Given the description of an element on the screen output the (x, y) to click on. 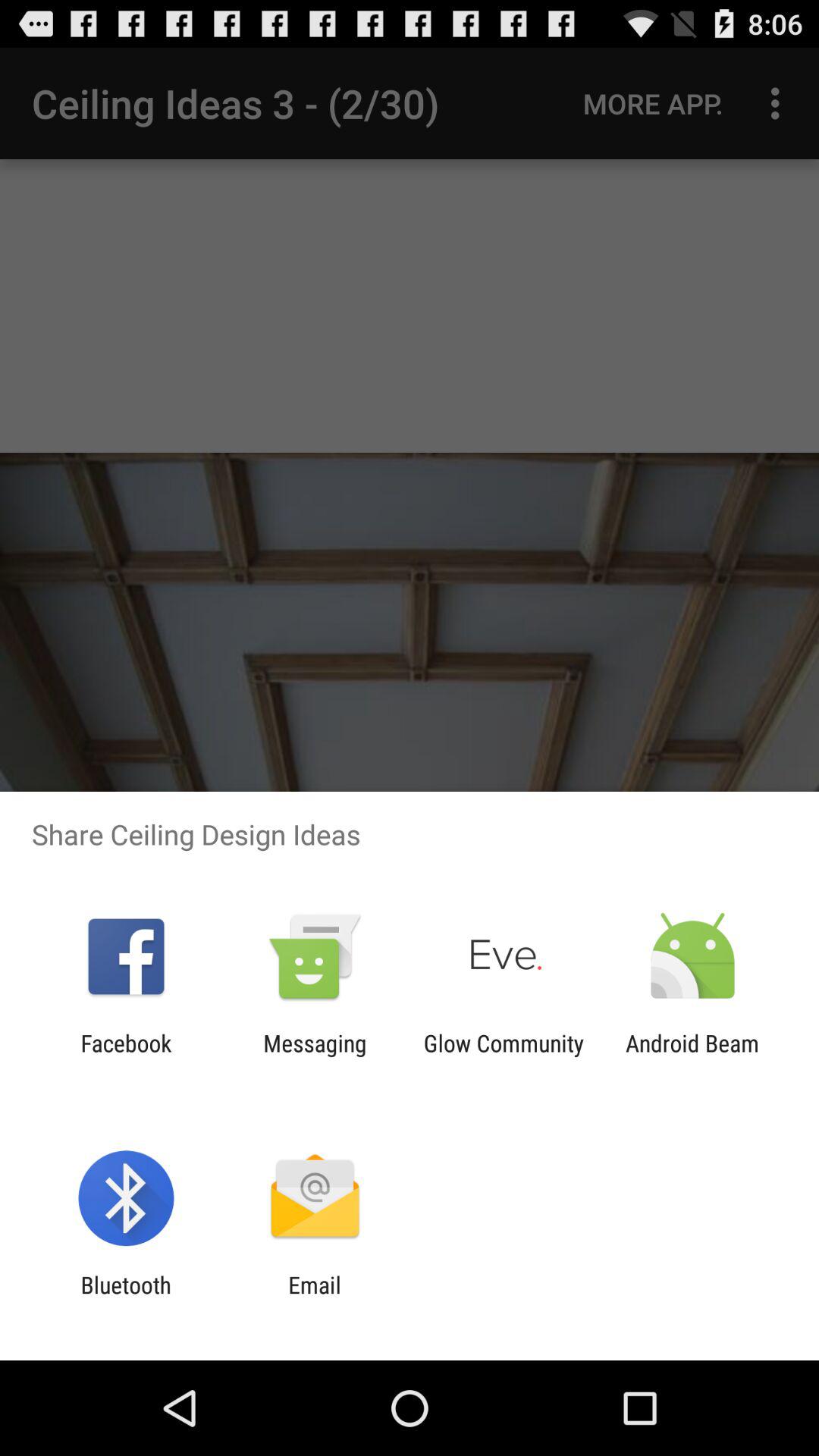
click icon to the left of the messaging (125, 1056)
